Given the description of an element on the screen output the (x, y) to click on. 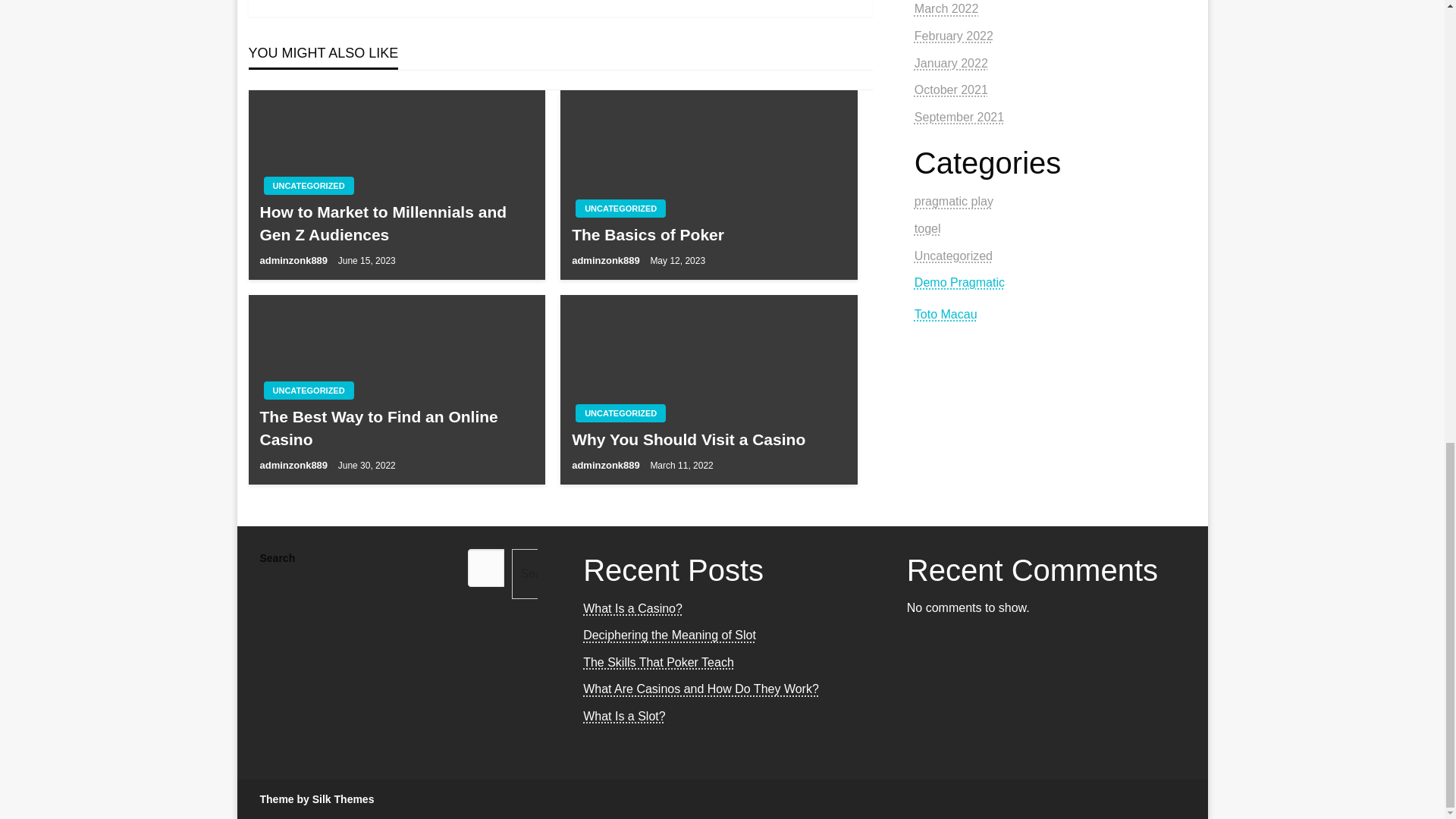
UNCATEGORIZED (620, 413)
UNCATEGORIZED (620, 208)
How to Market to Millennials and Gen Z Audiences (396, 222)
The Basics of Poker (708, 234)
adminzonk889 (607, 260)
adminzonk889 (607, 464)
Why You Should Visit a Casino (708, 439)
UNCATEGORIZED (308, 390)
adminzonk889 (294, 464)
adminzonk889 (294, 260)
